Given the description of an element on the screen output the (x, y) to click on. 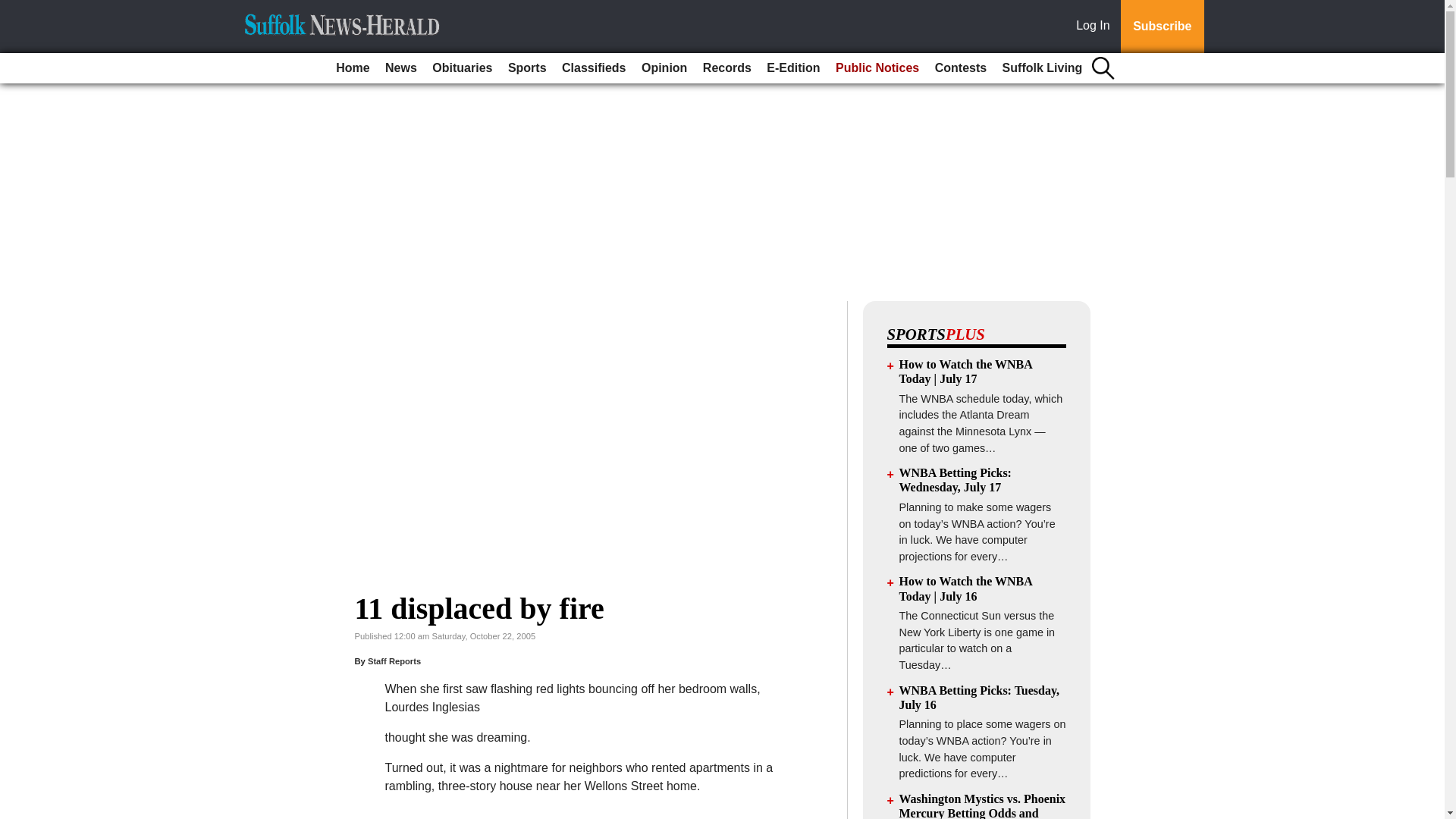
Suffolk Living (1042, 68)
Home (352, 68)
Staff Reports (394, 660)
Public Notices (876, 68)
Records (727, 68)
News (400, 68)
E-Edition (792, 68)
Classifieds (593, 68)
Subscribe (1162, 26)
WNBA Betting Picks: Wednesday, July 17 (955, 479)
Contests (960, 68)
Sports (527, 68)
Obituaries (461, 68)
WNBA Betting Picks: Tuesday, July 16 (979, 697)
Log In (1095, 26)
